Given the description of an element on the screen output the (x, y) to click on. 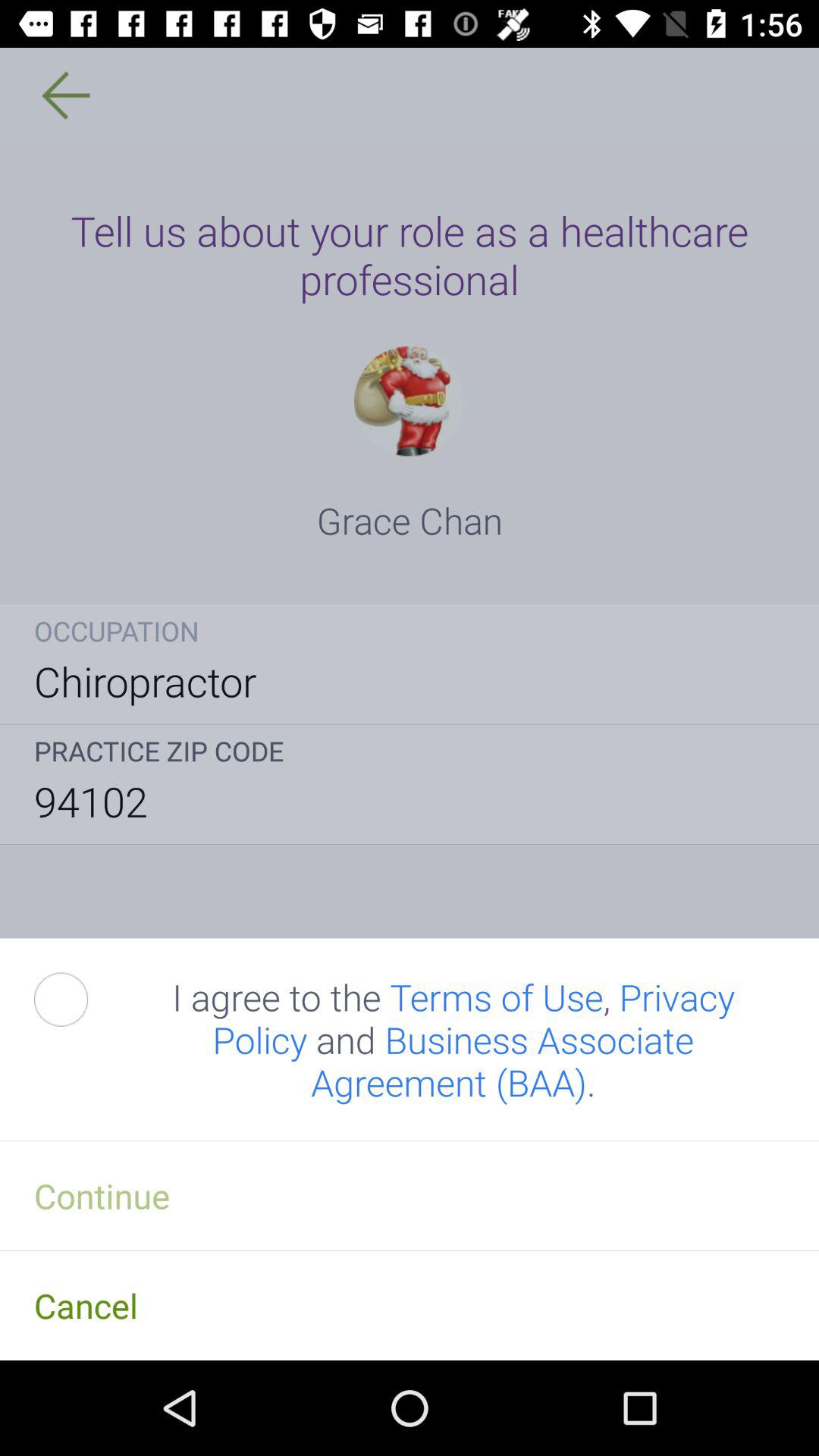
select i agree to (453, 1039)
